Given the description of an element on the screen output the (x, y) to click on. 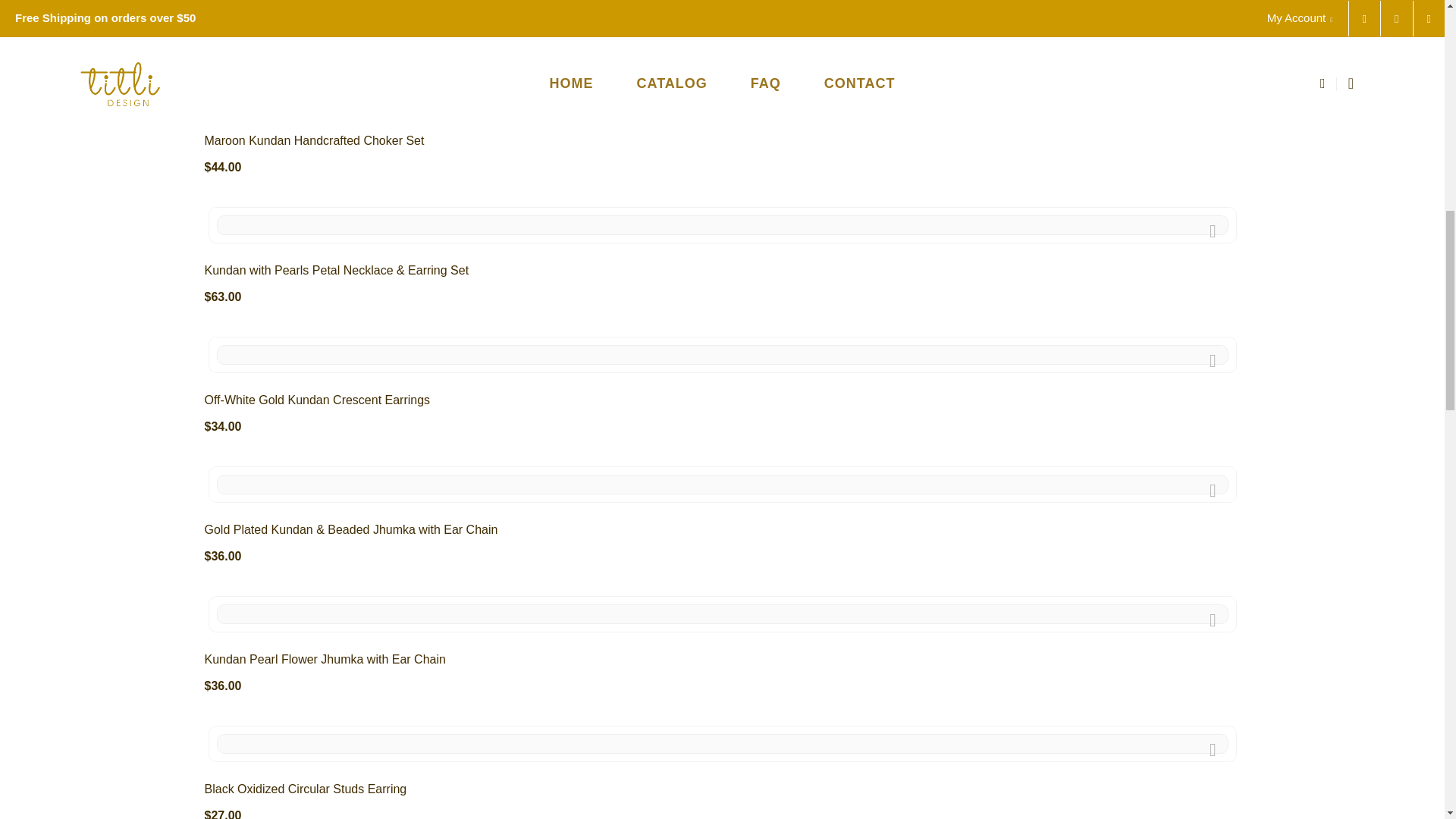
Add to Wishlist (1213, 230)
Add to Wishlist (1213, 748)
Maroon Kundan Handcrafted Choker Set (315, 140)
Kundan Pearl Flower Jhumka with Ear Chain (325, 658)
Black Oxidized Circular Studs Earring (306, 788)
Add to Wishlist (1213, 490)
Add to Wishlist (1213, 359)
Off-White Gold Kundan Crescent Earrings (317, 399)
Add to Wishlist (1213, 619)
Add to Wishlist (1213, 100)
